Given the description of an element on the screen output the (x, y) to click on. 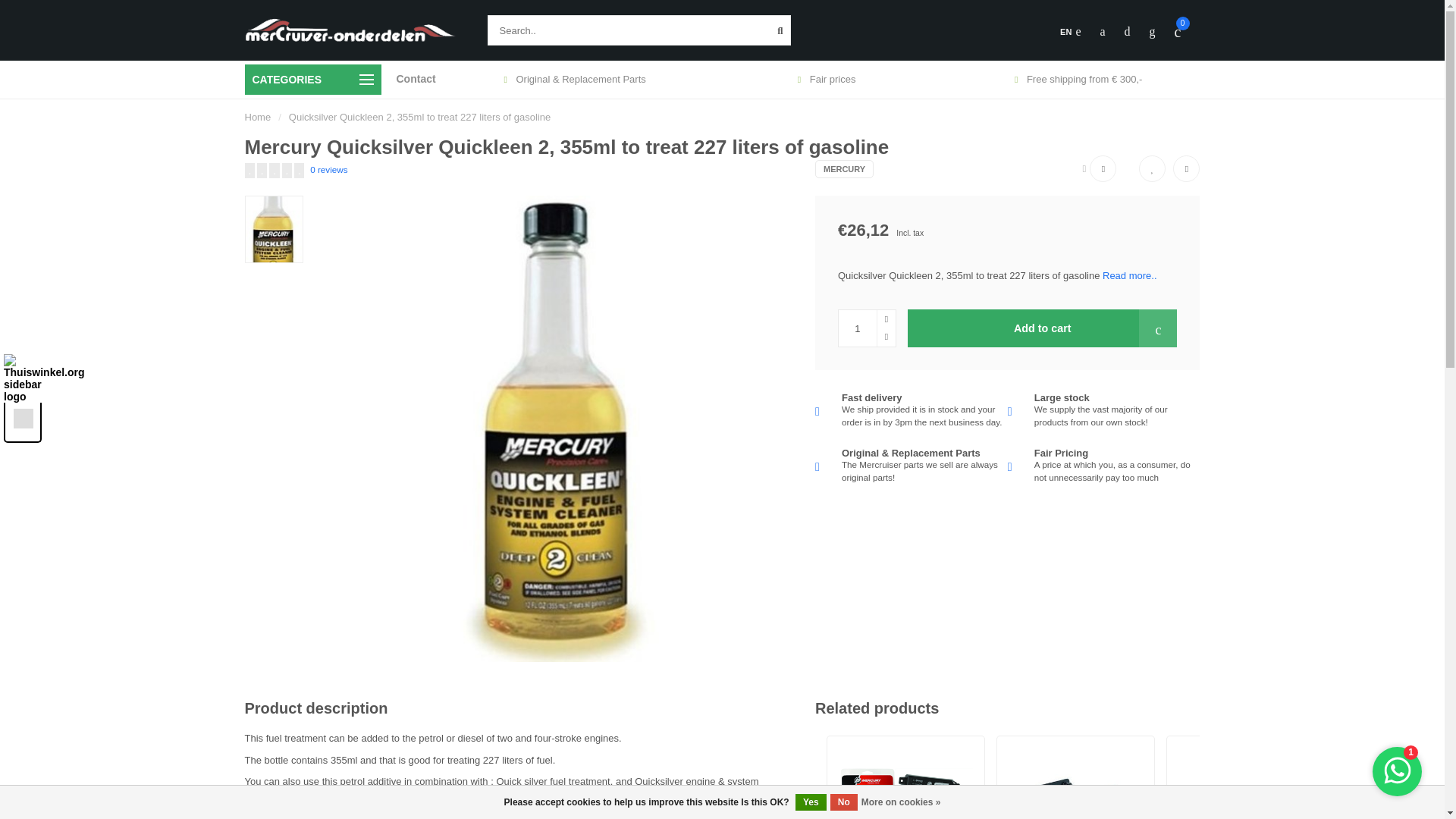
Yes (810, 801)
Home (257, 116)
More on cookies (900, 802)
1 (866, 328)
EN (1069, 31)
No (843, 801)
